Given the description of an element on the screen output the (x, y) to click on. 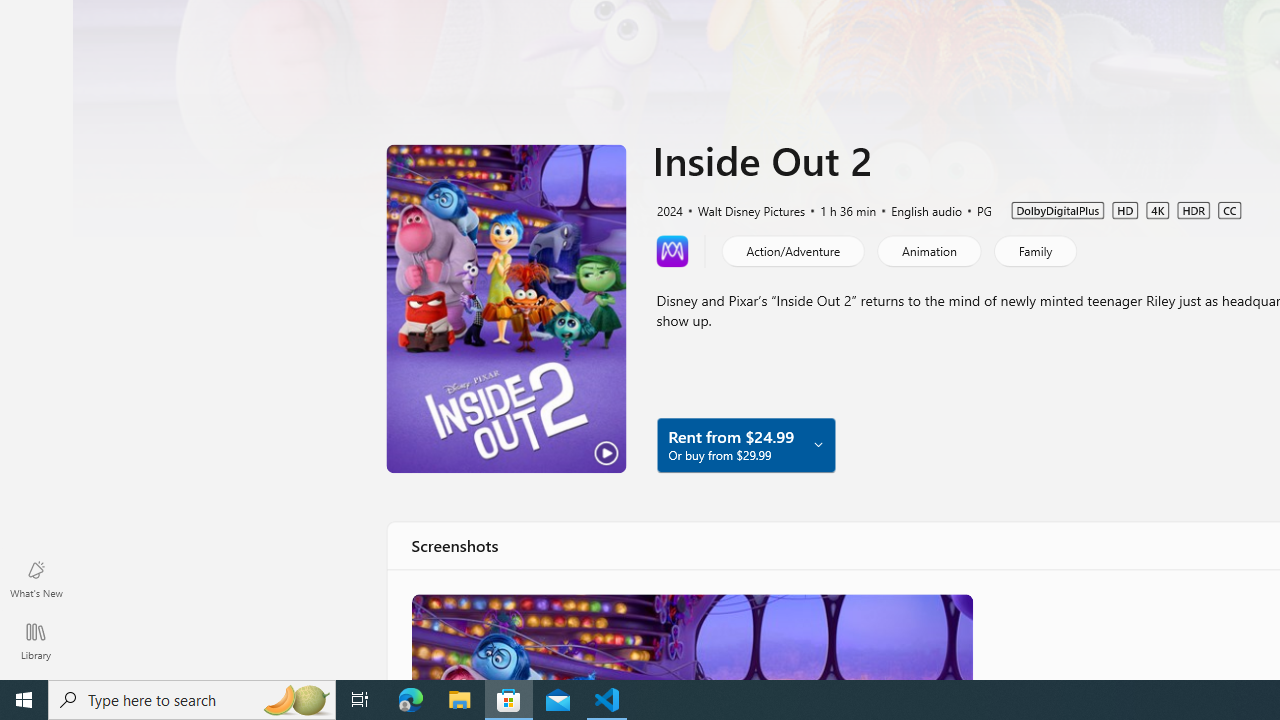
Walt Disney Pictures (742, 209)
PG (975, 209)
Library (35, 640)
What's New (35, 578)
English audio (917, 209)
Family (1034, 250)
1 h 36 min (839, 209)
Animation (928, 250)
Class: ListViewItem (690, 636)
Rent from $24.99 Or buy from $29.99 (745, 444)
2024 (667, 209)
Action/Adventure (792, 250)
Learn more about Movies Anywhere (671, 250)
Play Trailer (505, 308)
